Given the description of an element on the screen output the (x, y) to click on. 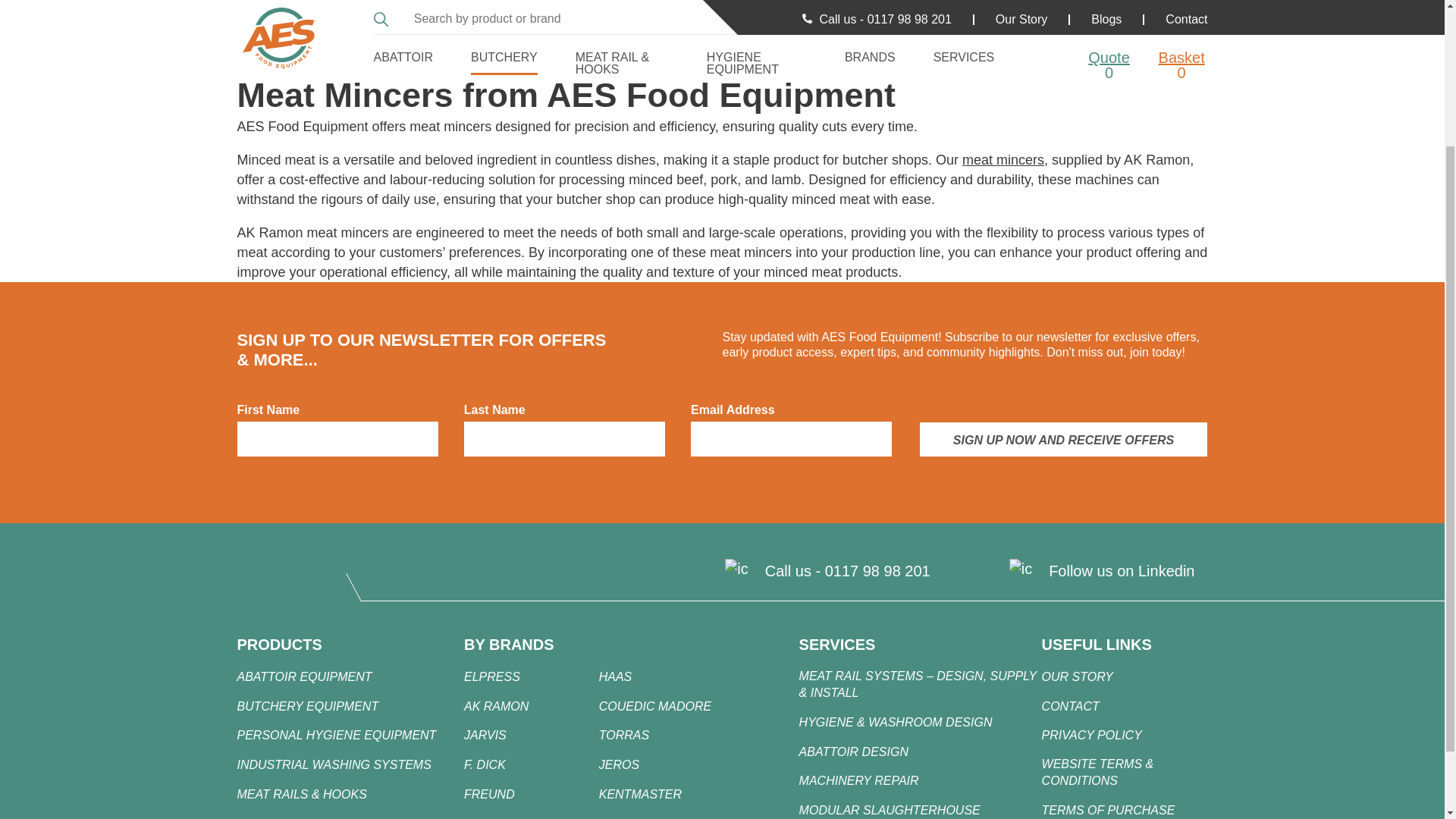
Follow us on Linkedin (1120, 570)
0117 98 98 201 (877, 570)
